Given the description of an element on the screen output the (x, y) to click on. 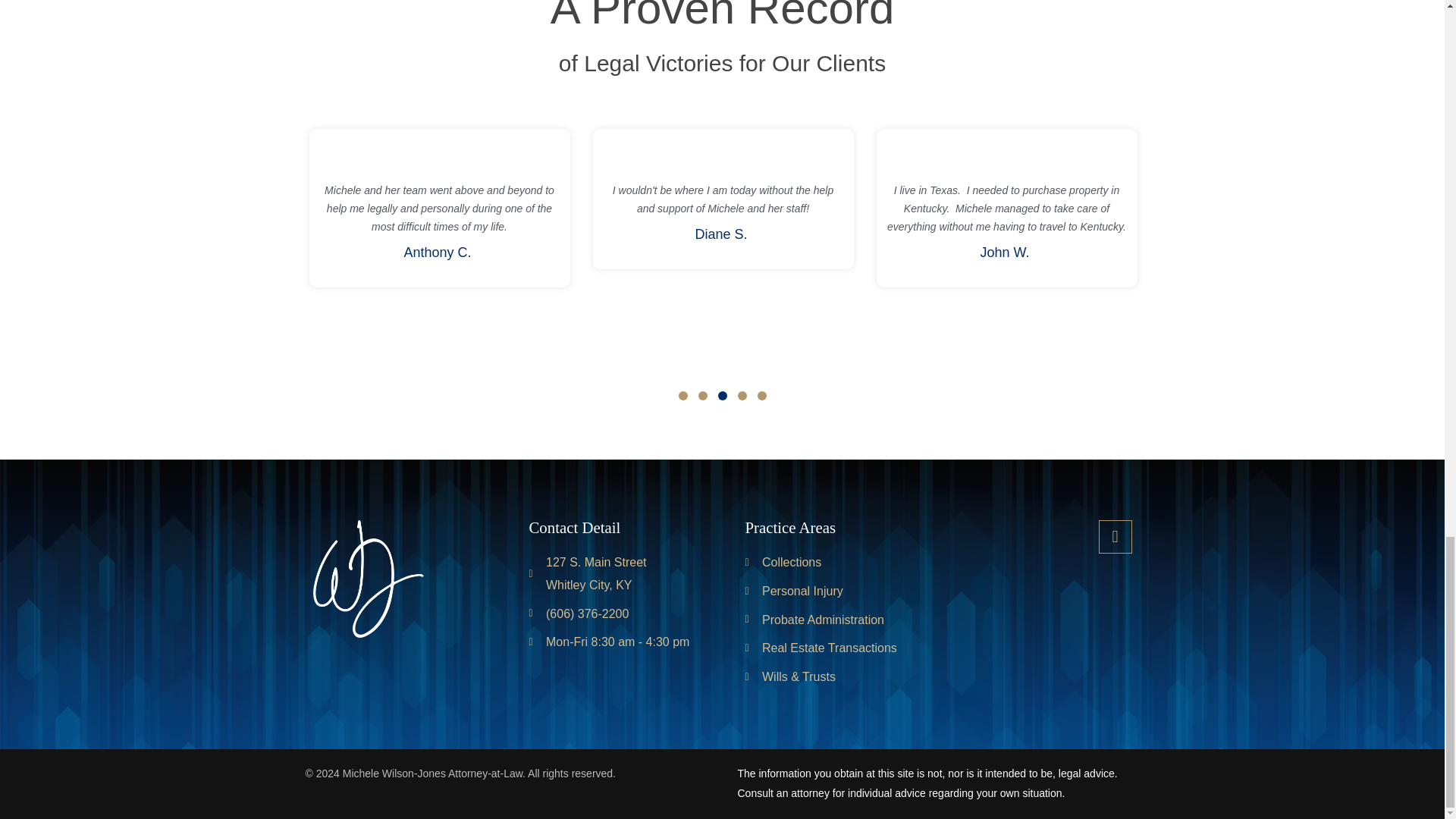
5 (761, 395)
3 (721, 395)
Personal Injury (829, 590)
Probate Administration (829, 620)
Linkedin-in (1114, 536)
Mon-Fri 8:30 am - 4:30 pm (614, 641)
2 (701, 395)
Real Estate Transactions (829, 648)
1 (614, 573)
4 (682, 395)
Collections (740, 395)
